Given the description of an element on the screen output the (x, y) to click on. 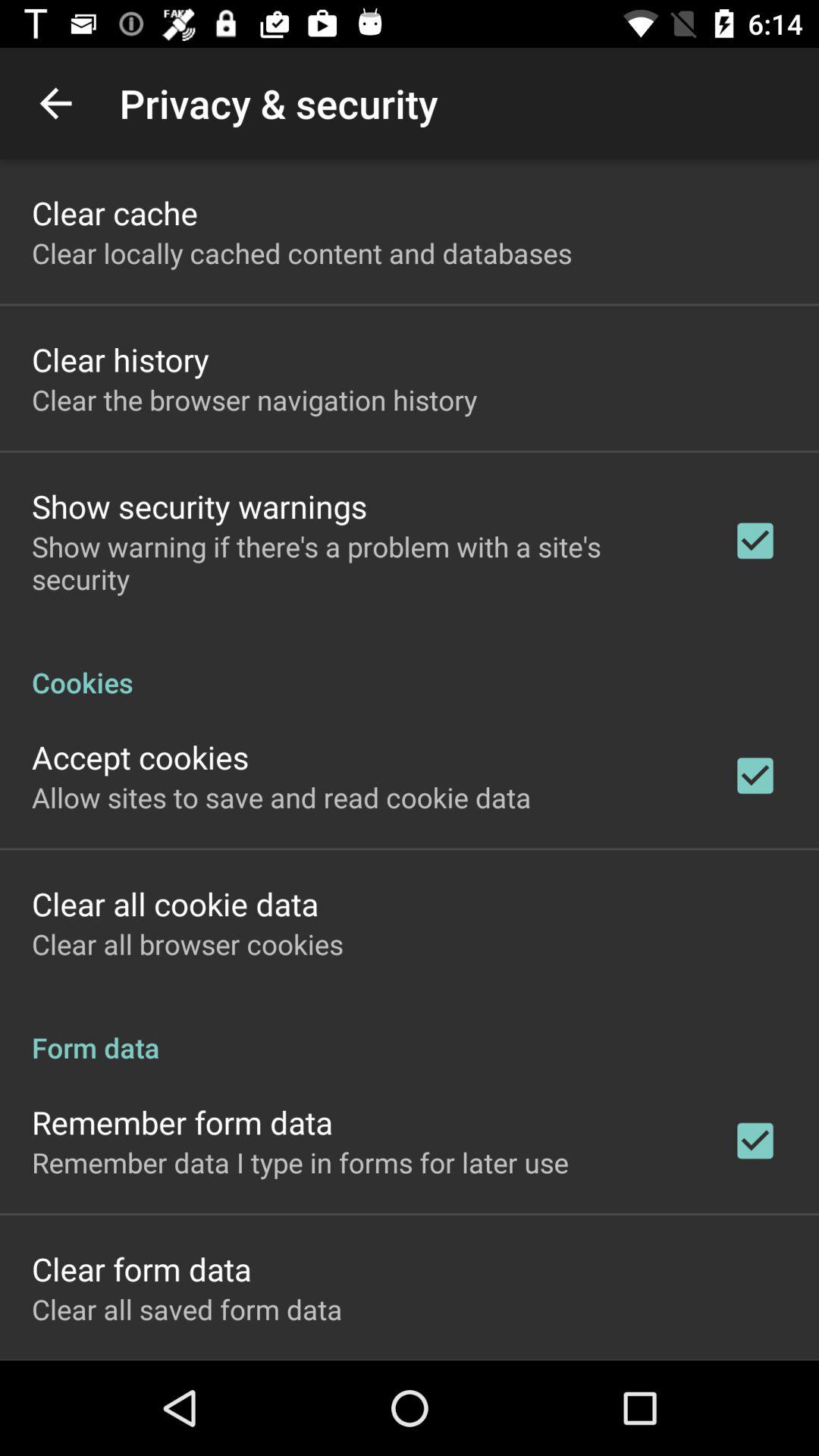
click app next to the privacy & security app (55, 103)
